Given the description of an element on the screen output the (x, y) to click on. 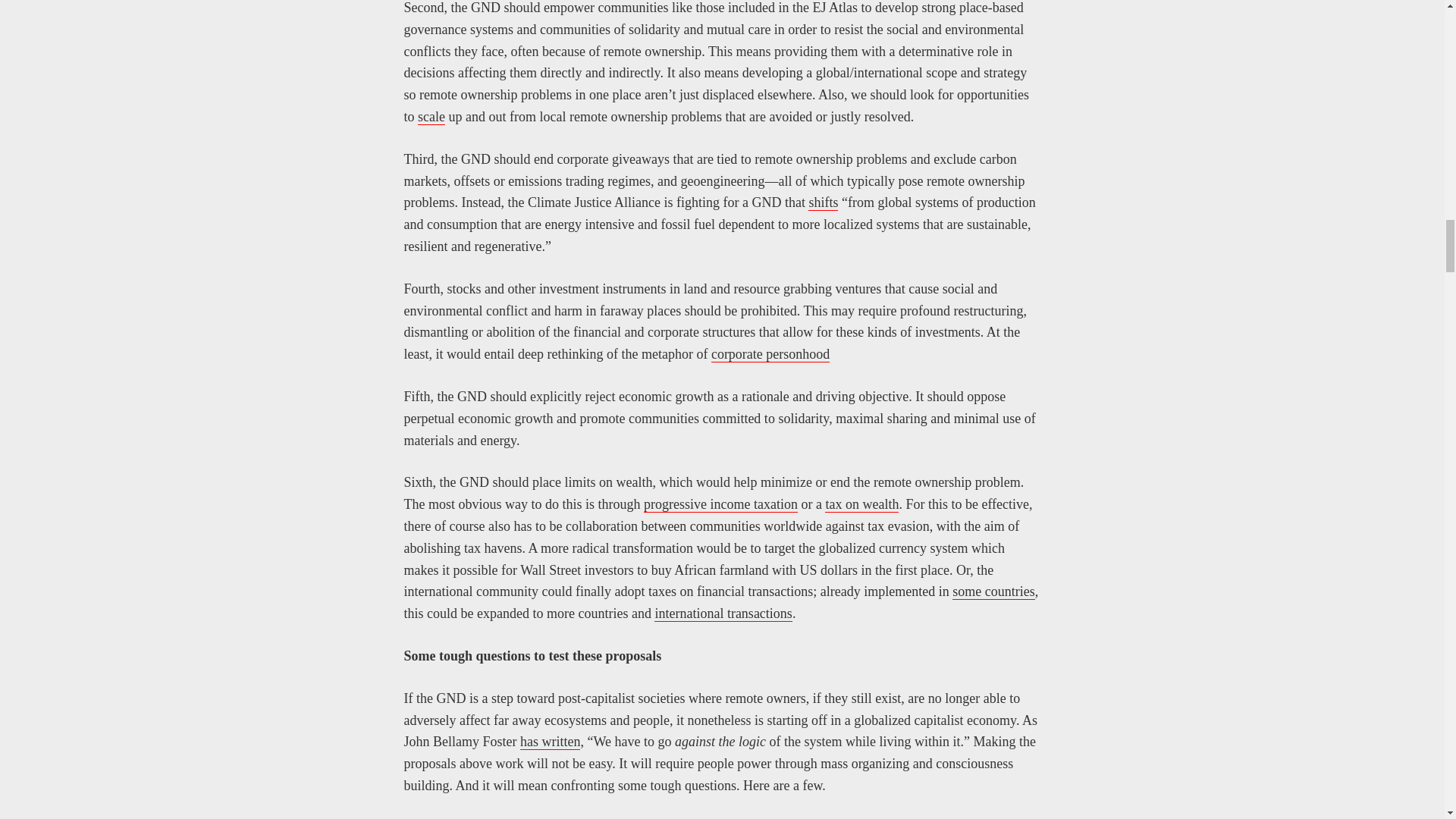
progressive income taxation (720, 504)
shifts (823, 202)
tax on wealth (861, 504)
scale (431, 116)
corporate personhood (770, 354)
